Given the description of an element on the screen output the (x, y) to click on. 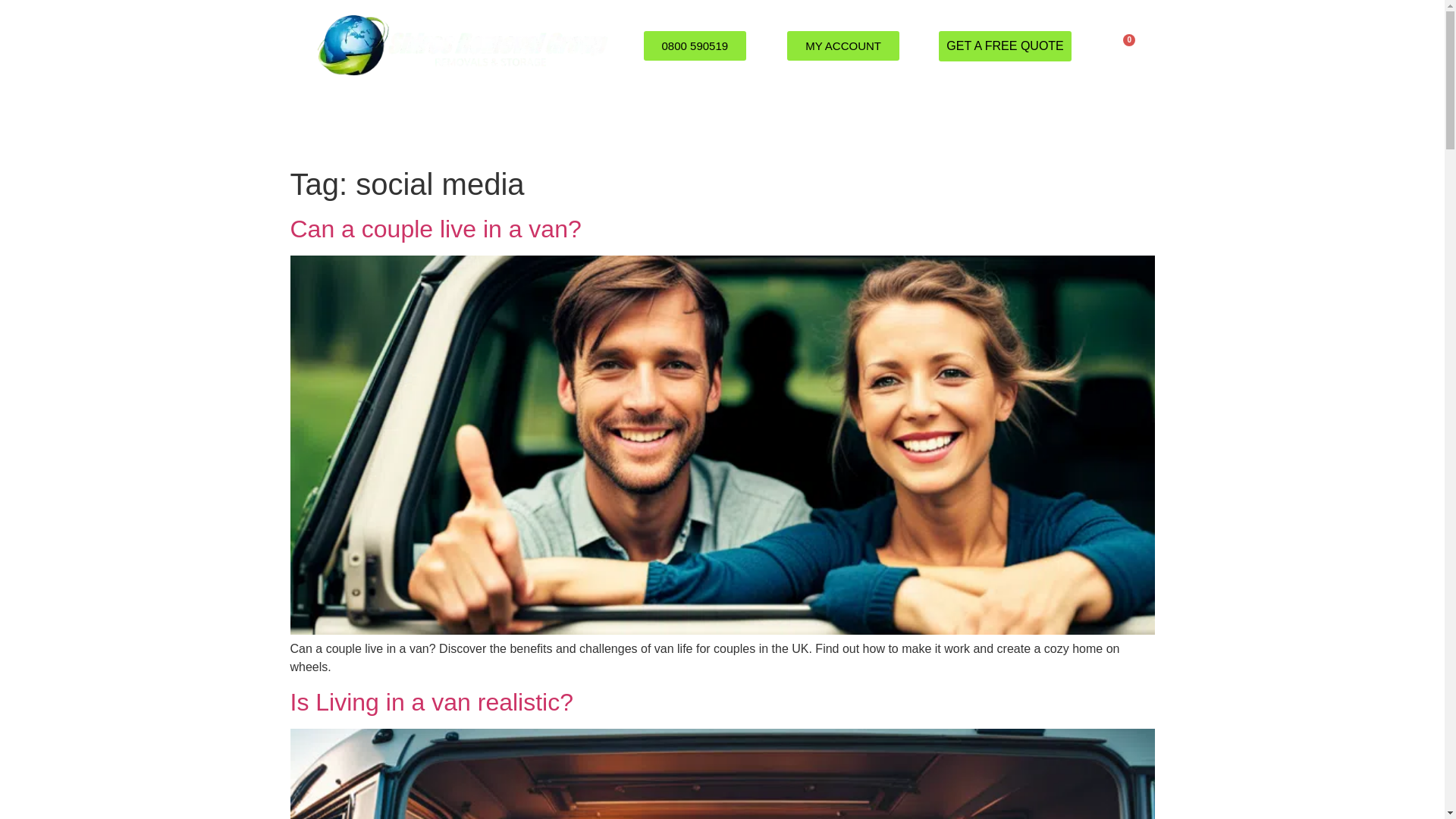
GET A FREE QUOTE (1004, 45)
MY ACCOUNT (843, 45)
Packing Services (515, 125)
Removals (400, 125)
Home (318, 125)
Storage (790, 125)
0800 590519 (694, 45)
Commercial Relocation (664, 125)
